Given the description of an element on the screen output the (x, y) to click on. 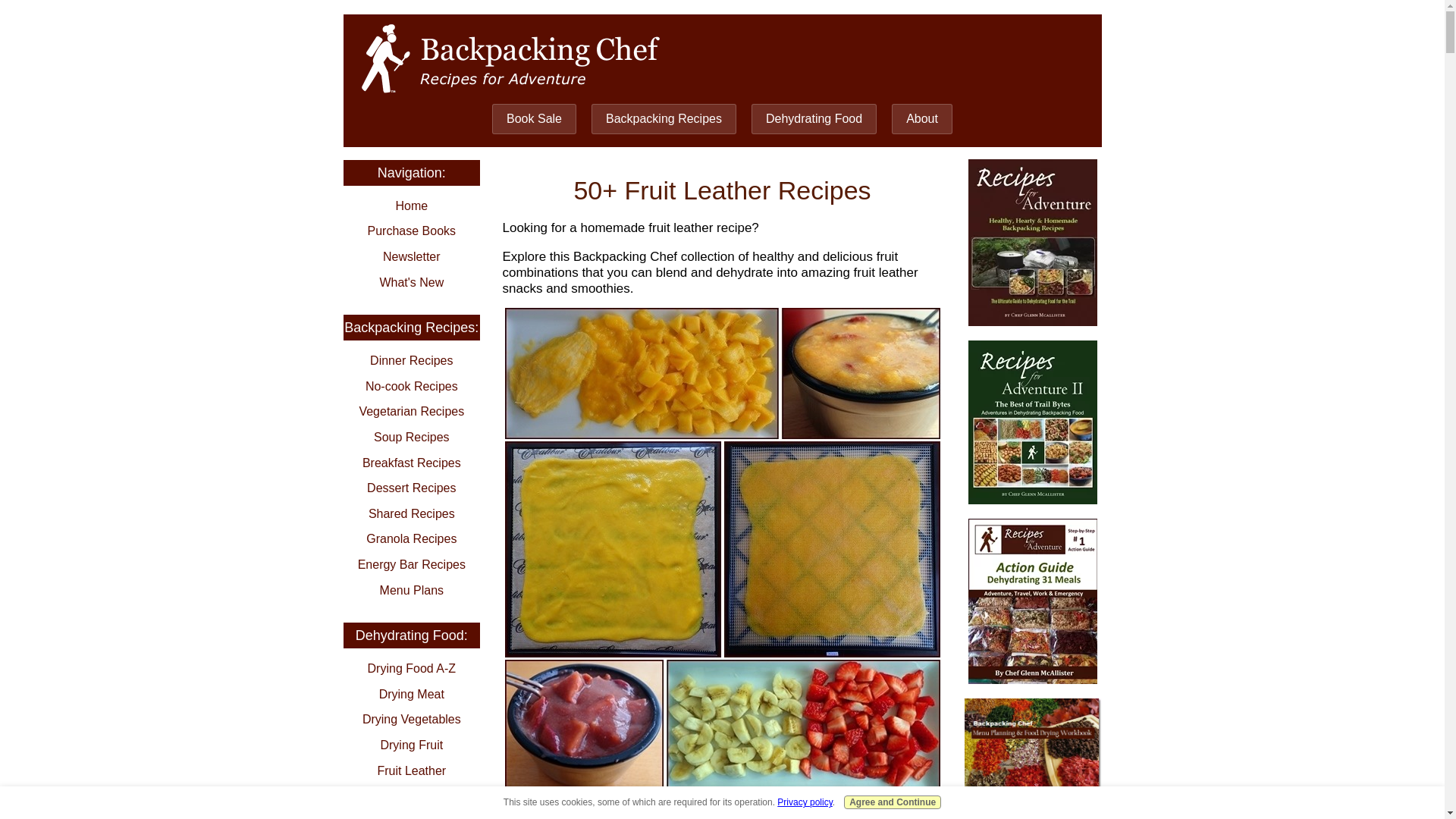
Book Sale (534, 119)
BackpackingChef.com (510, 57)
Backpacking Recipes (663, 119)
About (921, 119)
Dehydrating Food (813, 119)
